Given the description of an element on the screen output the (x, y) to click on. 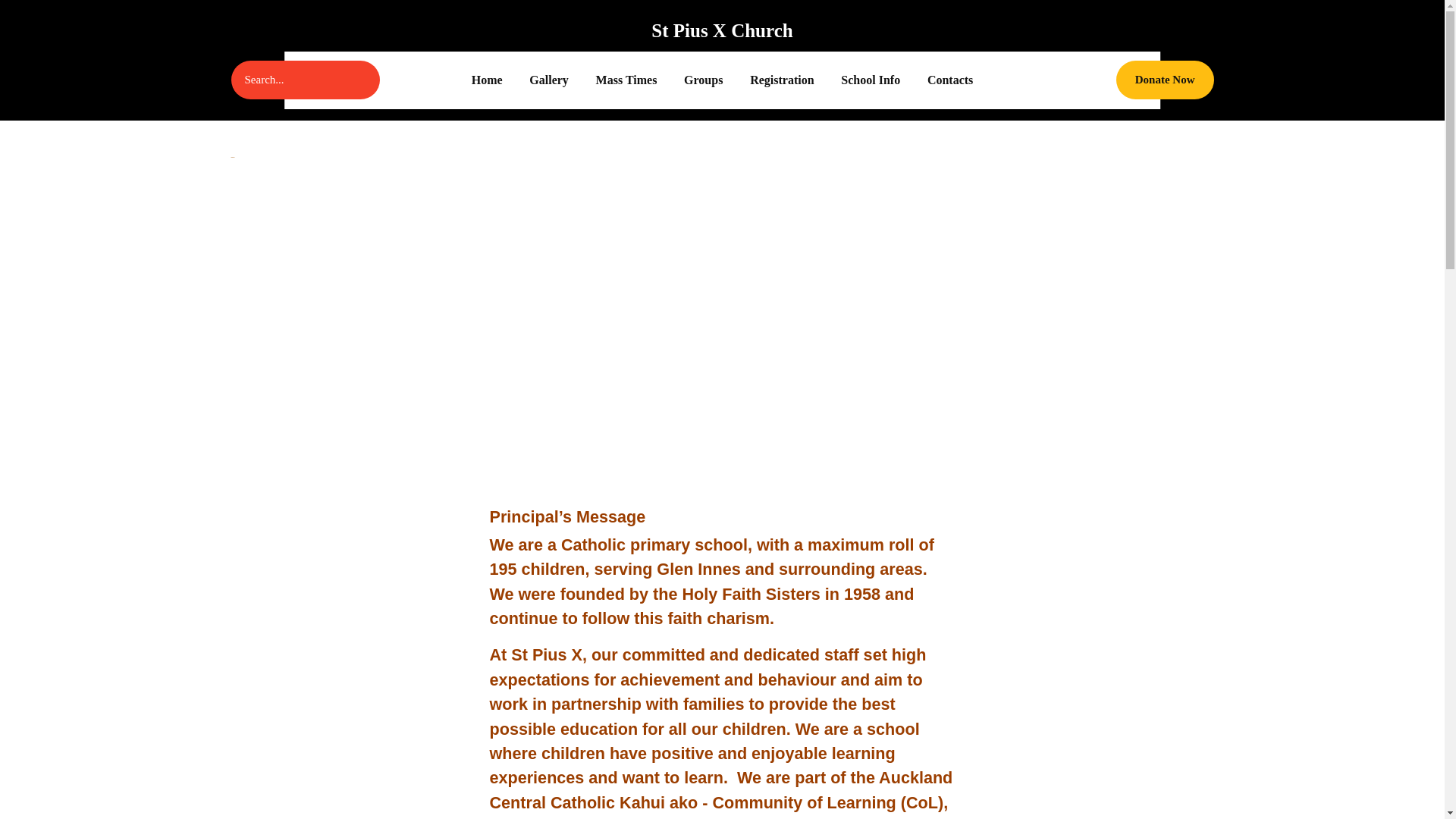
Gallery (1165, 79)
w1560h928-d4155f10a23282bea828c59bc32a5633 (548, 80)
St Pius X Church (722, 332)
Contacts (721, 30)
Home (950, 80)
School Info (487, 80)
Registration (870, 80)
Groups (781, 80)
Mass Times (703, 80)
